Given the description of an element on the screen output the (x, y) to click on. 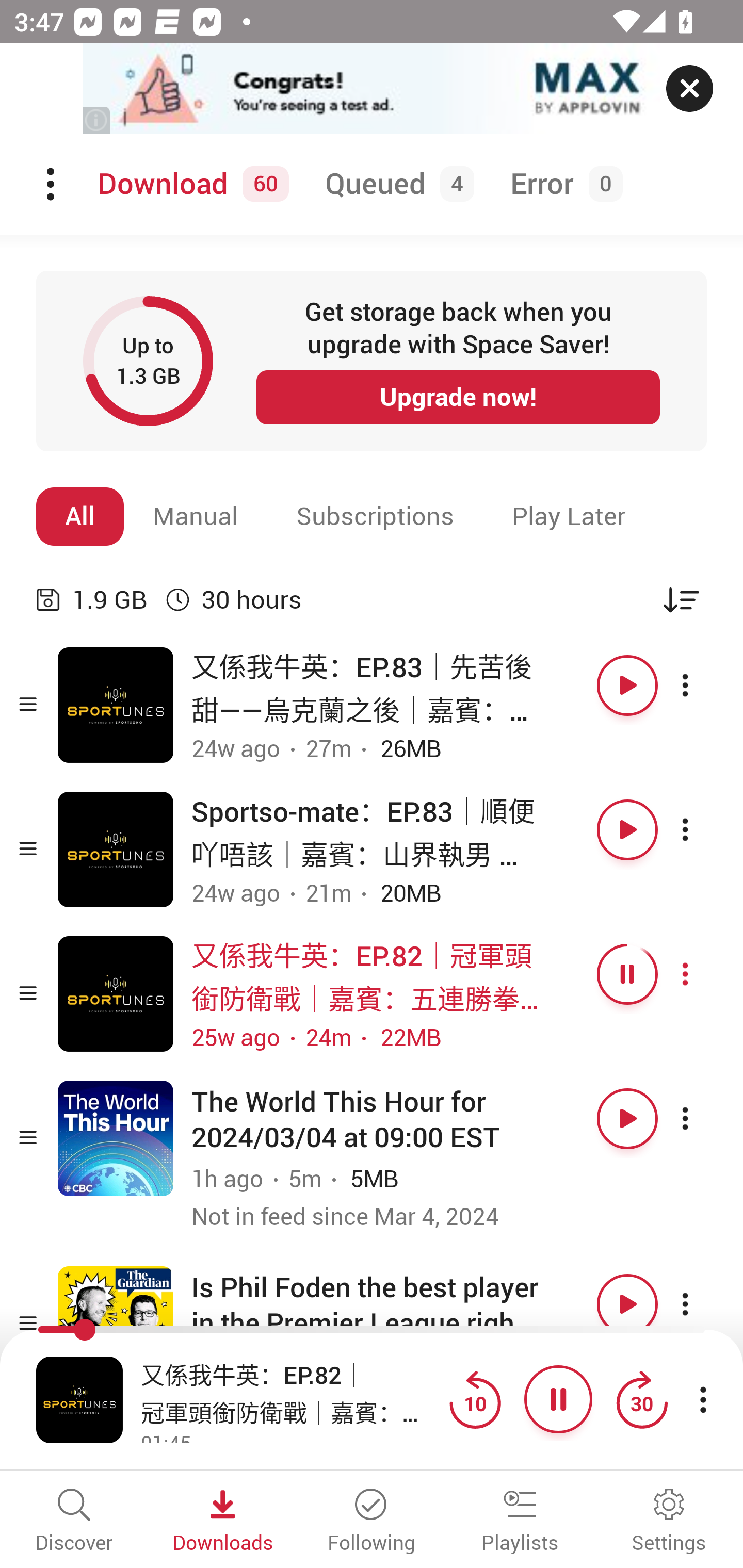
app-monetization (371, 88)
(i) (96, 119)
Menu (52, 184)
 Download 60 (189, 184)
 Queued 4 (396, 184)
 Error 0 (562, 184)
All (80, 516)
Manual (195, 516)
Subscriptions (374, 516)
Play Later (568, 516)
Change sort order (681, 599)
Play button (627, 685)
More options (703, 685)
Open series Sportunes HK (115, 705)
Play button (627, 830)
More options (703, 830)
Open series Sportunes HK (115, 849)
Pause button (627, 974)
More options (703, 974)
Open series Sportunes HK (115, 994)
Play button (627, 1118)
More options (703, 1118)
Open series The World This Hour (115, 1138)
Play button (627, 1304)
More options (703, 1304)
Open series Football Weekly (115, 1323)
Open fullscreen player (79, 1399)
又係我牛英：EP.82｜冠軍頭銜防衛戰｜嘉賓：五連勝拳后 楊曉茹 (290, 1392)
More player controls (703, 1399)
Pause button (558, 1398)
Jump back (475, 1399)
Jump forward (641, 1399)
Discover (74, 1521)
Downloads (222, 1521)
Following (371, 1521)
Playlists (519, 1521)
Settings (668, 1521)
